Given the description of an element on the screen output the (x, y) to click on. 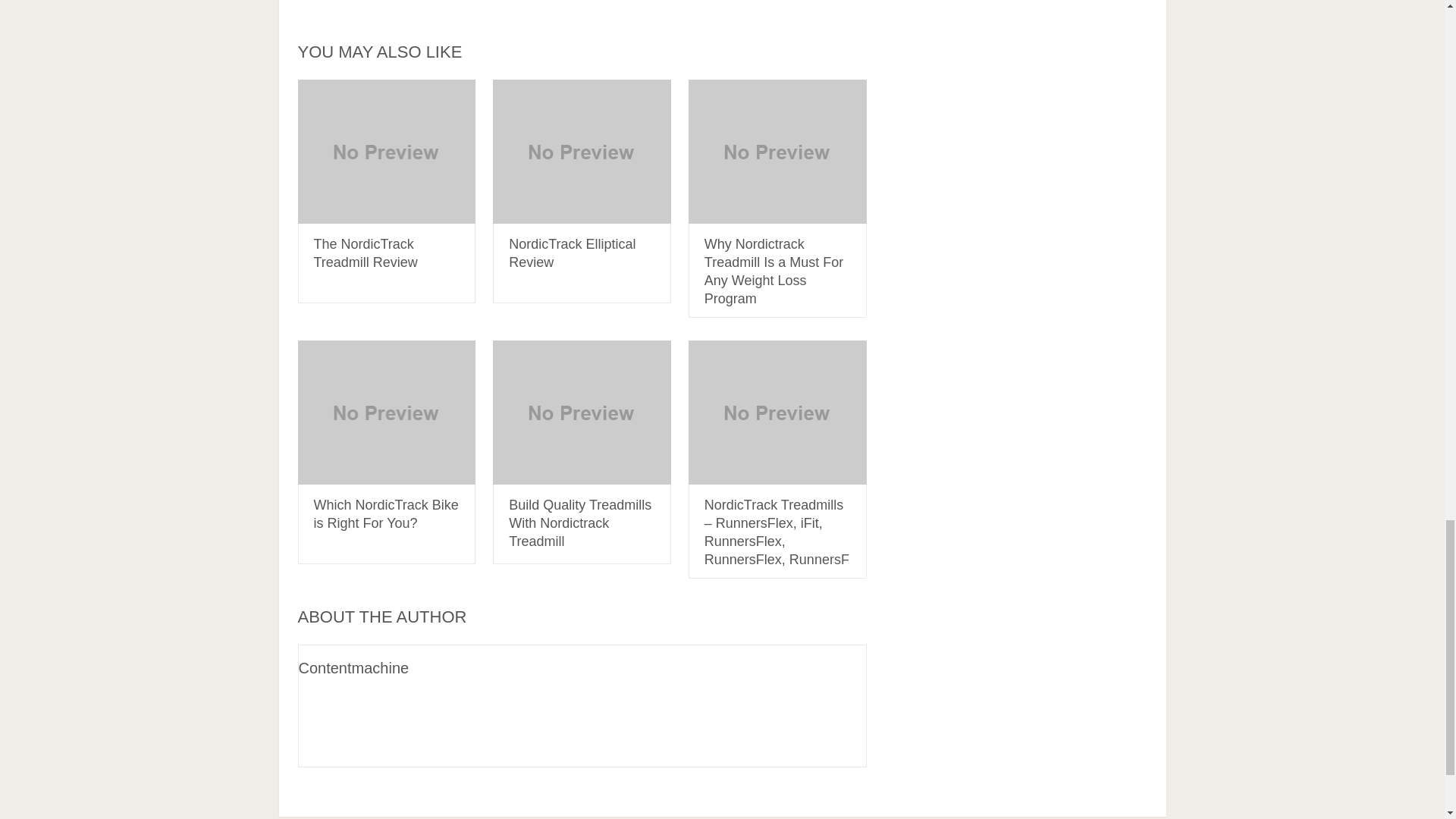
Which NordicTrack Bike is Right For You? (386, 513)
The NordicTrack Treadmill Review (365, 253)
The NordicTrack Treadmill Review (386, 151)
NordicTrack Elliptical Review (582, 151)
Contentmachine (353, 668)
Build Quality Treadmills With Nordictrack Treadmill (579, 522)
NordicTrack Elliptical Review (571, 253)
Which NordicTrack Bike is Right For You? (386, 412)
Build Quality Treadmills With Nordictrack Treadmill (582, 412)
